Given the description of an element on the screen output the (x, y) to click on. 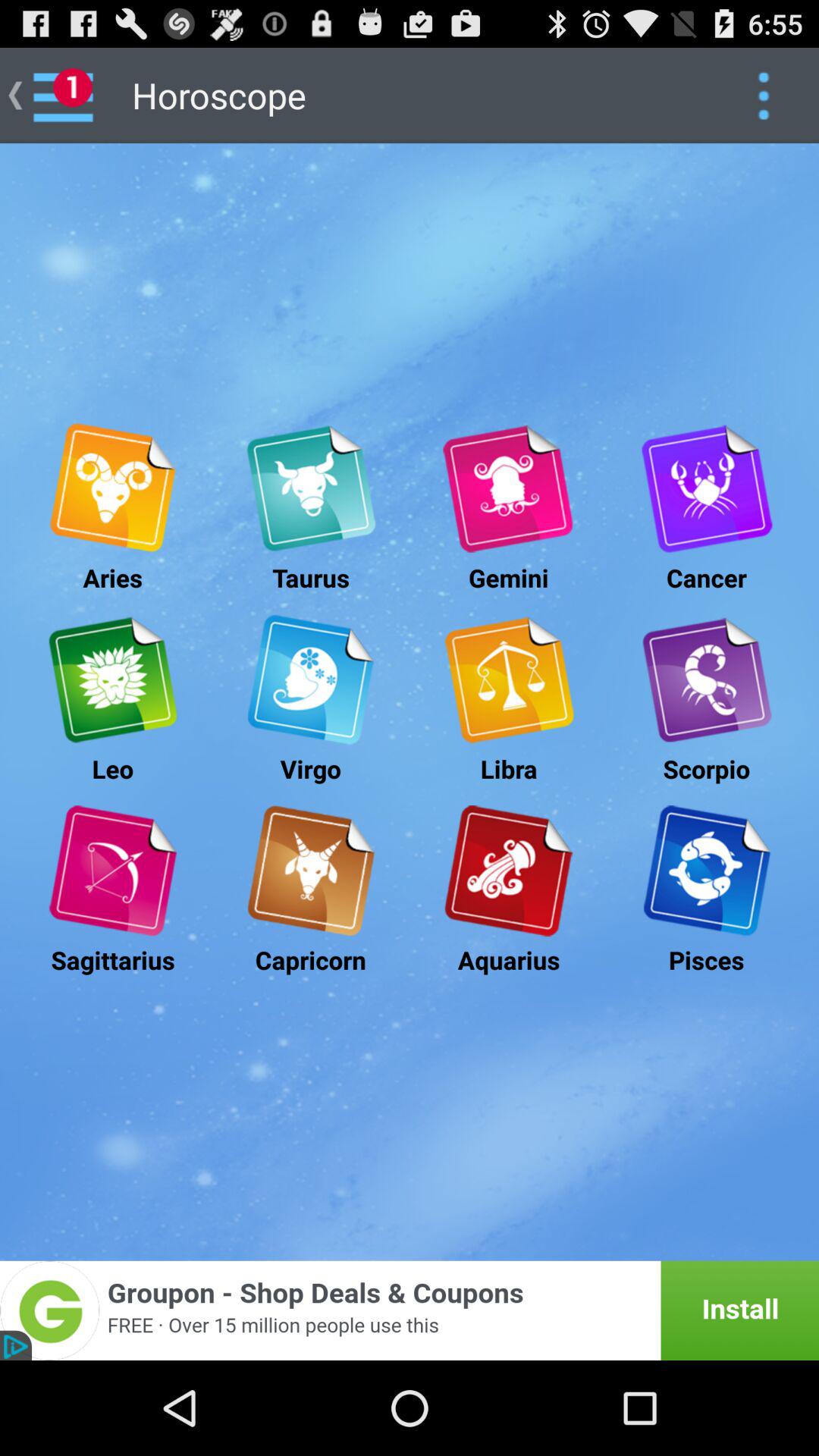
view aries page (112, 488)
